Given the description of an element on the screen output the (x, y) to click on. 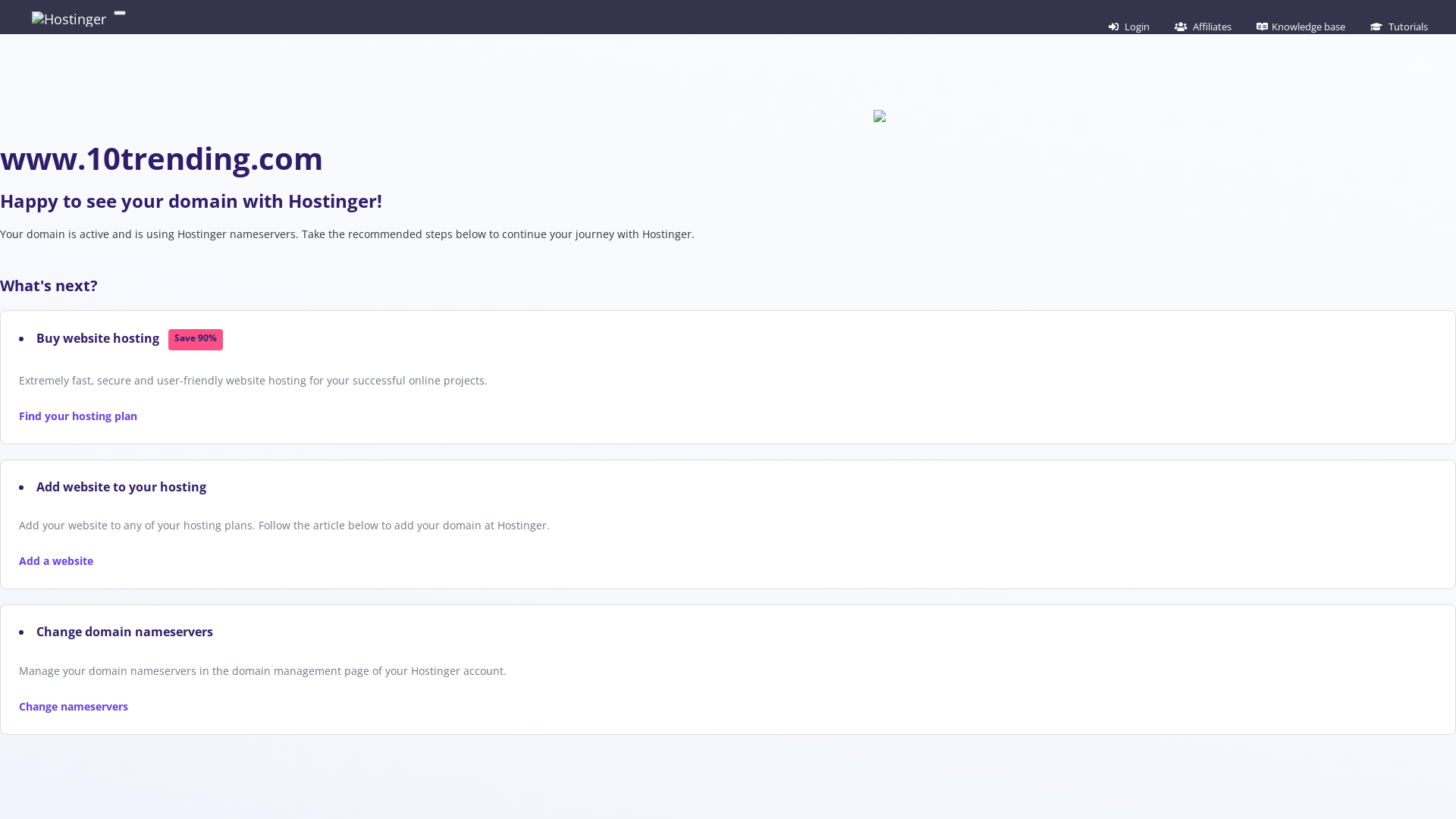
Affiliates Element type: text (1202, 26)
Tutorials Element type: text (1398, 26)
Change nameservers Element type: text (73, 706)
Find your hosting plan Element type: text (77, 415)
Knowledge base Element type: text (1300, 26)
Login Element type: text (1128, 26)
Add a website Element type: text (55, 560)
